Given the description of an element on the screen output the (x, y) to click on. 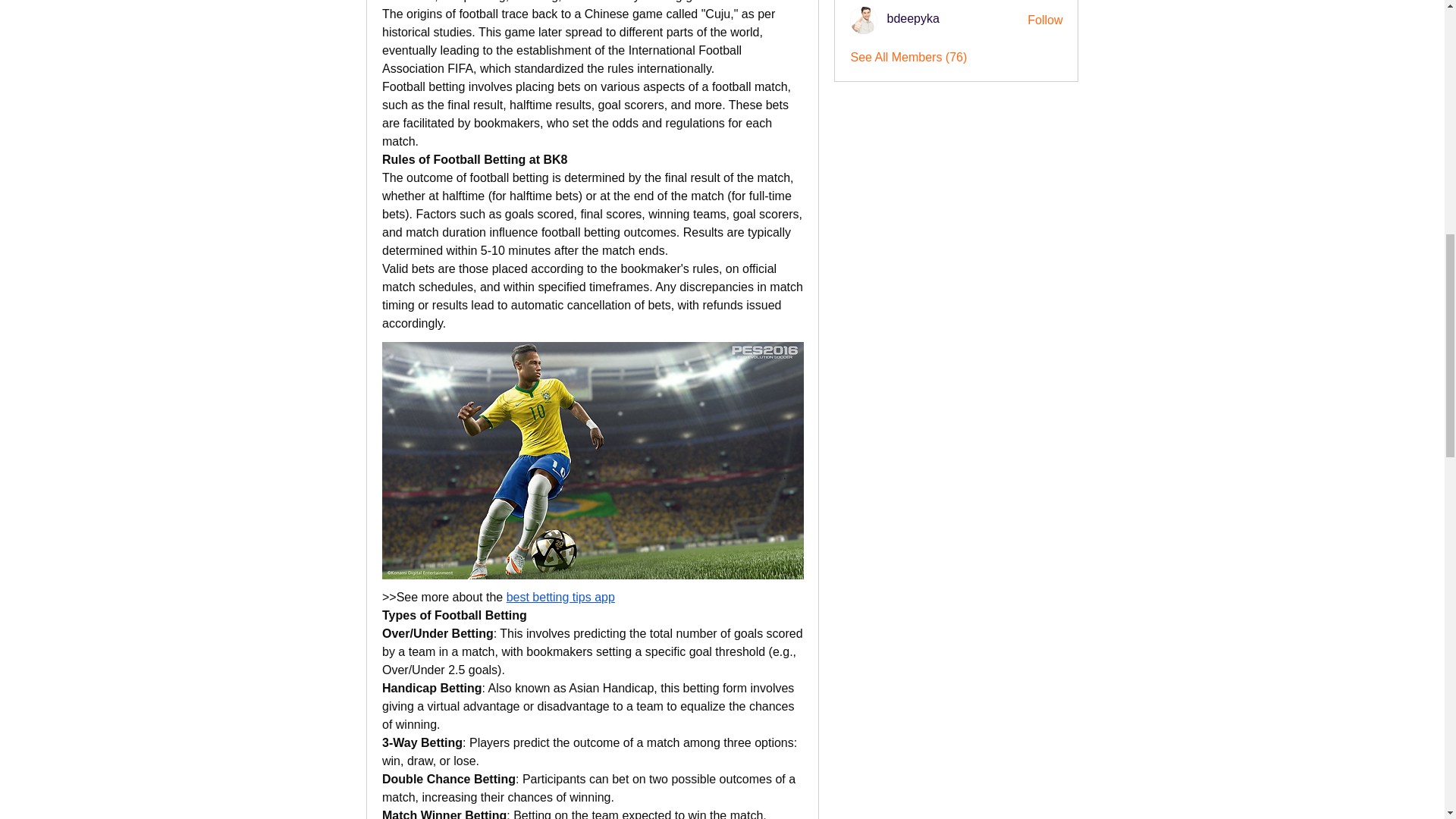
Follow (1044, 20)
best betting tips app (559, 596)
bdeepyka (912, 18)
bdeepyka (863, 20)
bdeepyka (912, 18)
